Given the description of an element on the screen output the (x, y) to click on. 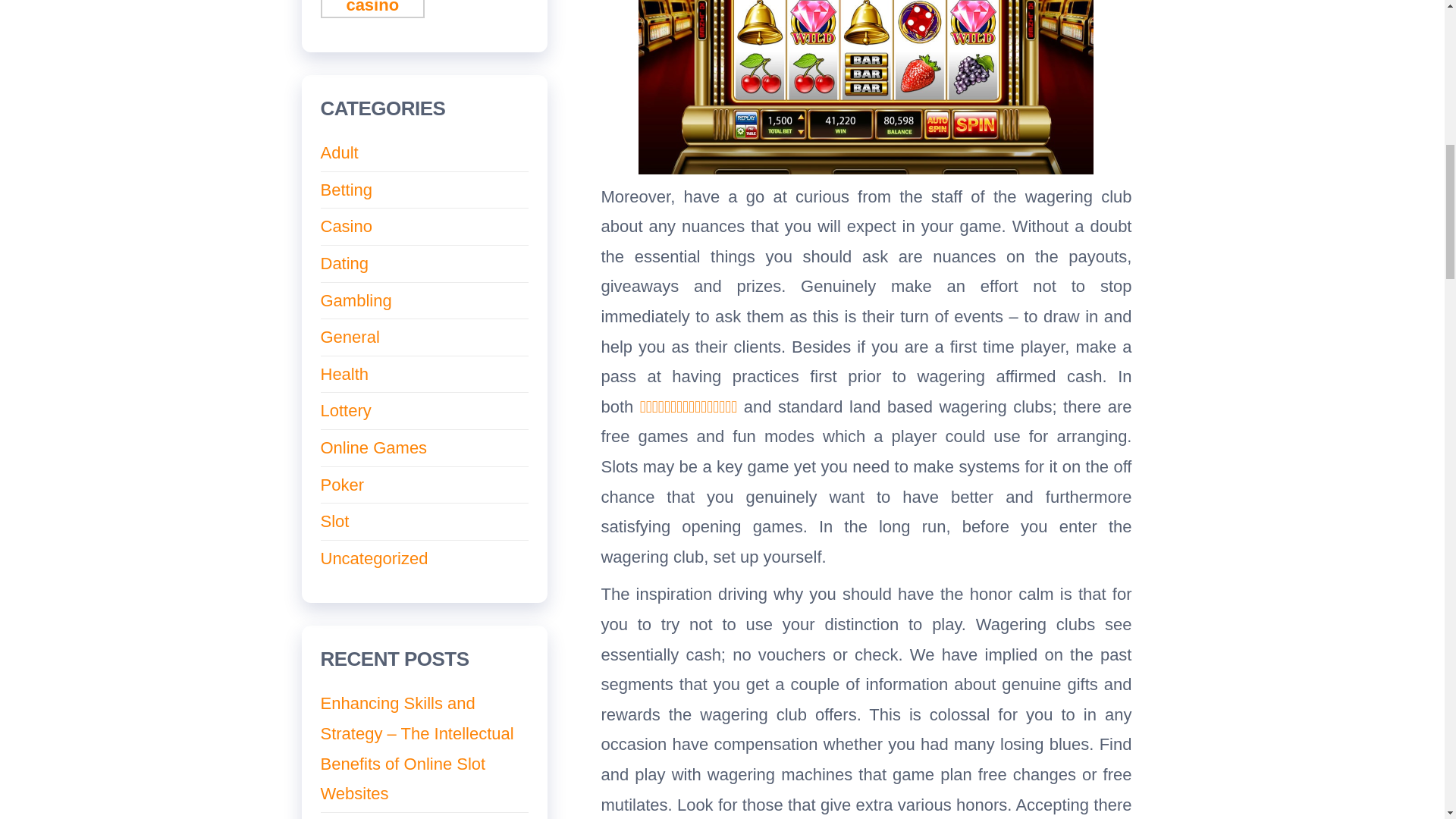
Uncategorized (374, 558)
Poker (341, 484)
Dating (344, 262)
Gambling (355, 300)
General (349, 336)
Online Games (373, 447)
Lottery (345, 410)
Slot (334, 520)
Adult (339, 152)
Casino (345, 226)
Betting (346, 189)
Health (344, 374)
